Given the description of an element on the screen output the (x, y) to click on. 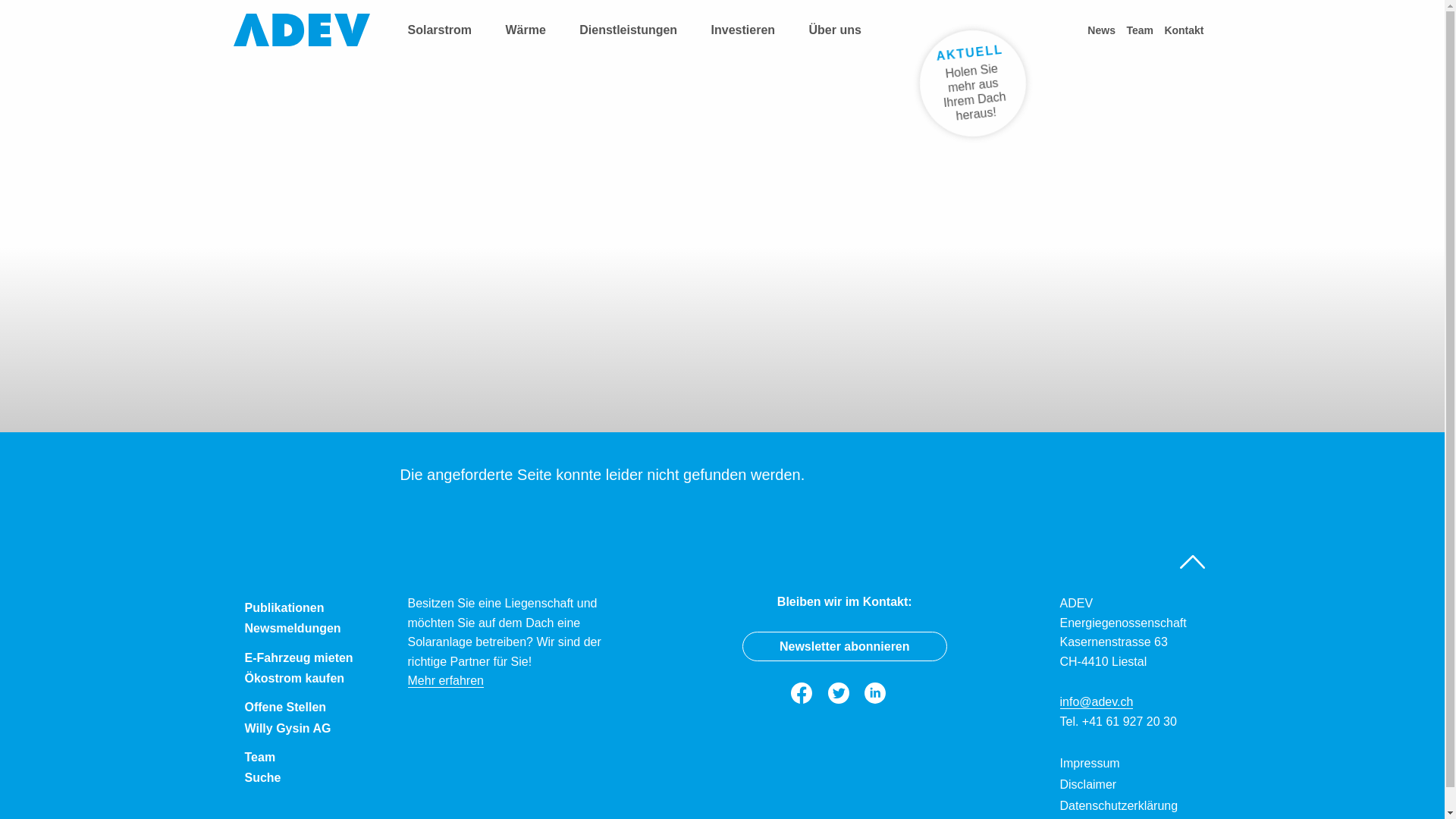
Dienstleistungen Element type: text (635, 30)
Twitter Element type: text (844, 692)
Investieren Element type: text (750, 30)
E-Fahrzeug mieten Element type: text (314, 653)
Top Element type: text (1192, 561)
Disclaimer Element type: text (1130, 784)
Kontakt Element type: text (1187, 30)
ADEV Energiegenossenschaft Element type: text (301, 30)
Facebook Element type: text (807, 692)
Offene Stellen Element type: text (314, 703)
Newsletter abonnieren Element type: text (844, 646)
Publikationen Element type: text (314, 603)
Solarstrom Element type: text (447, 30)
Impressum Element type: text (1130, 763)
Team Element type: text (1143, 30)
Linkedin Element type: text (880, 692)
Mehr erfahren Element type: text (445, 680)
Newsmeldungen Element type: text (314, 628)
Willy Gysin AG Element type: text (314, 727)
Team Element type: text (314, 753)
News Element type: text (1105, 30)
info@adev.ch Element type: text (1096, 702)
Suche Element type: text (314, 777)
